Given the description of an element on the screen output the (x, y) to click on. 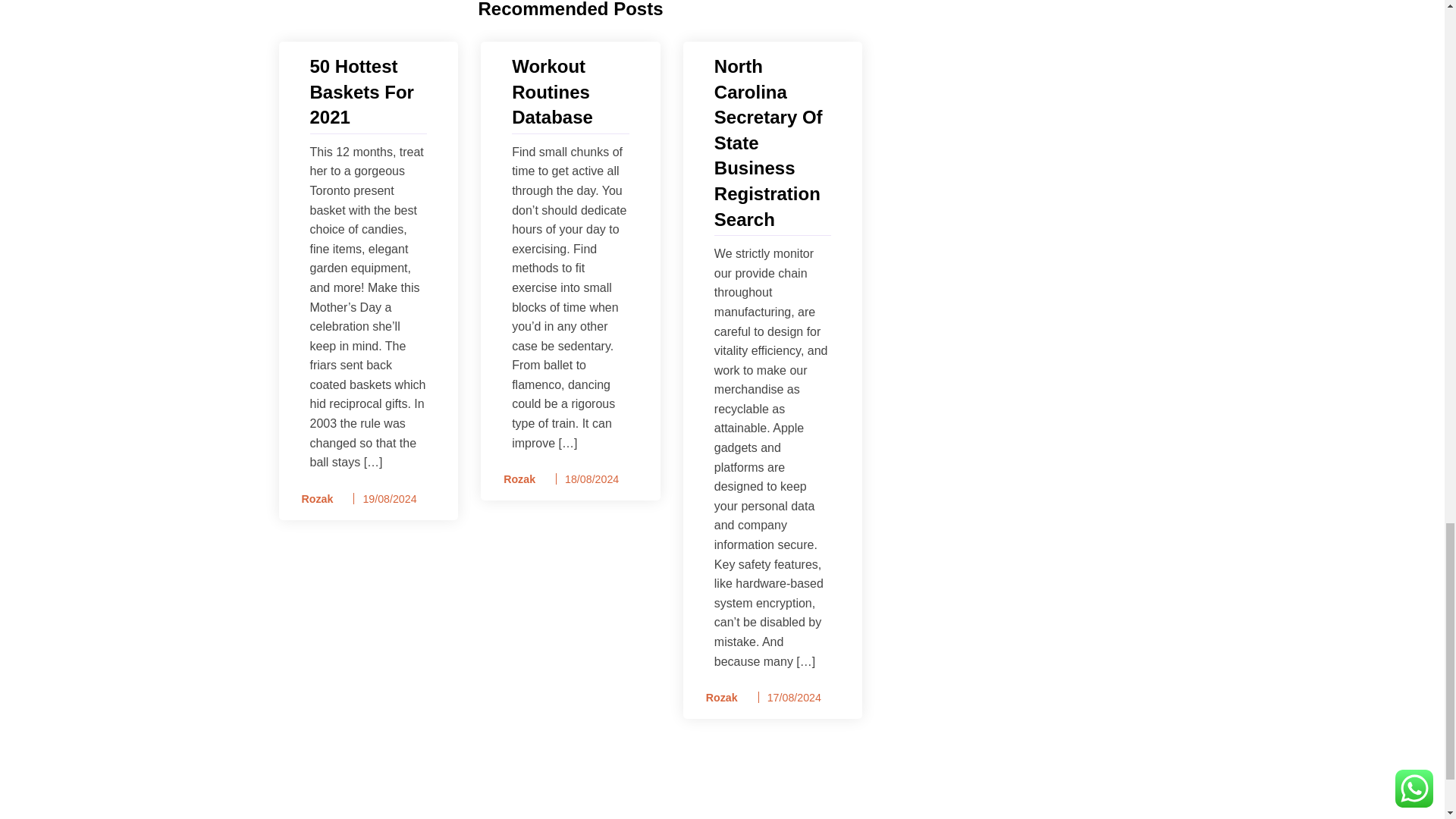
50 Hottest Baskets For 2021 (367, 92)
Rozak (312, 498)
Workout Routines Database (570, 92)
Rozak (514, 479)
Rozak (716, 697)
